Given the description of an element on the screen output the (x, y) to click on. 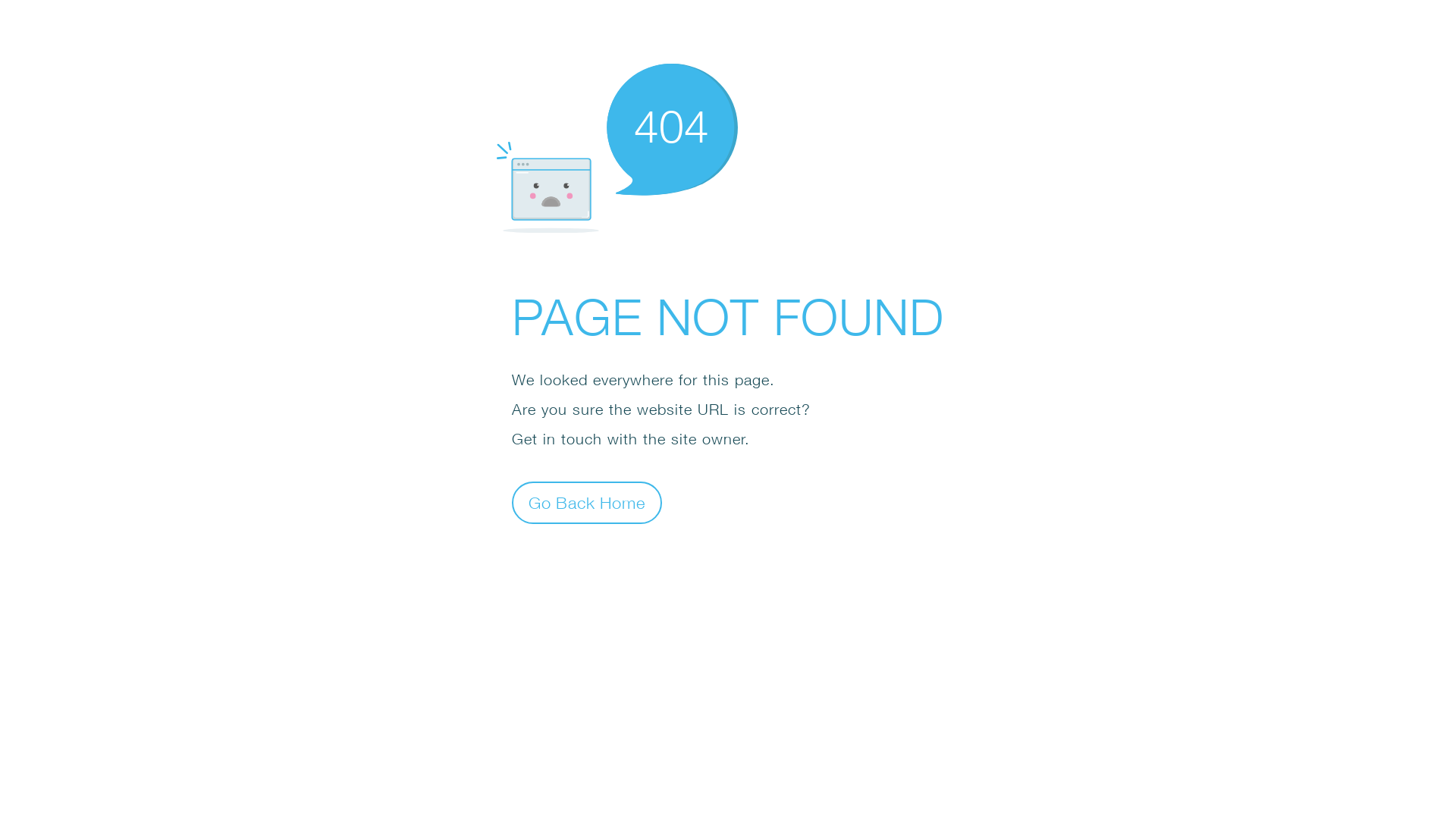
Go Back Home Element type: text (586, 502)
